Given the description of an element on the screen output the (x, y) to click on. 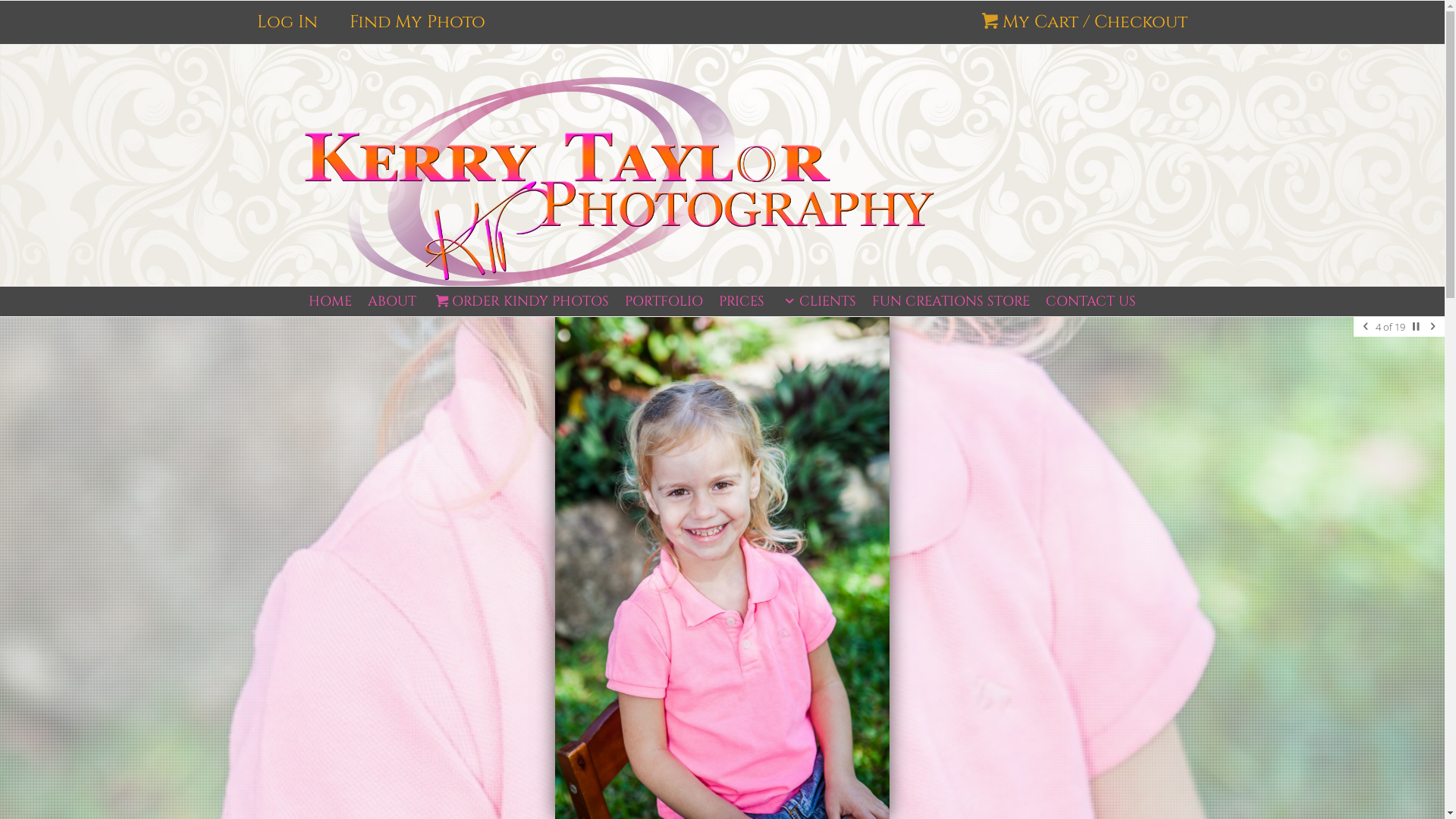
Find My Photo Element type: text (417, 22)
My Cart / Checkout Element type: text (1082, 22)
ABOUT Element type: text (392, 301)
CLIENTS Element type: text (817, 301)
PORTFOLIO Element type: text (663, 301)
Log In Element type: text (287, 22)
FUN CREATIONS STORE Element type: text (950, 301)
HOME Element type: text (330, 301)
CONTACT US Element type: text (1090, 301)
PRICES Element type: text (740, 301)
ORDER KINDY PHOTOS Element type: text (520, 301)
